Given the description of an element on the screen output the (x, y) to click on. 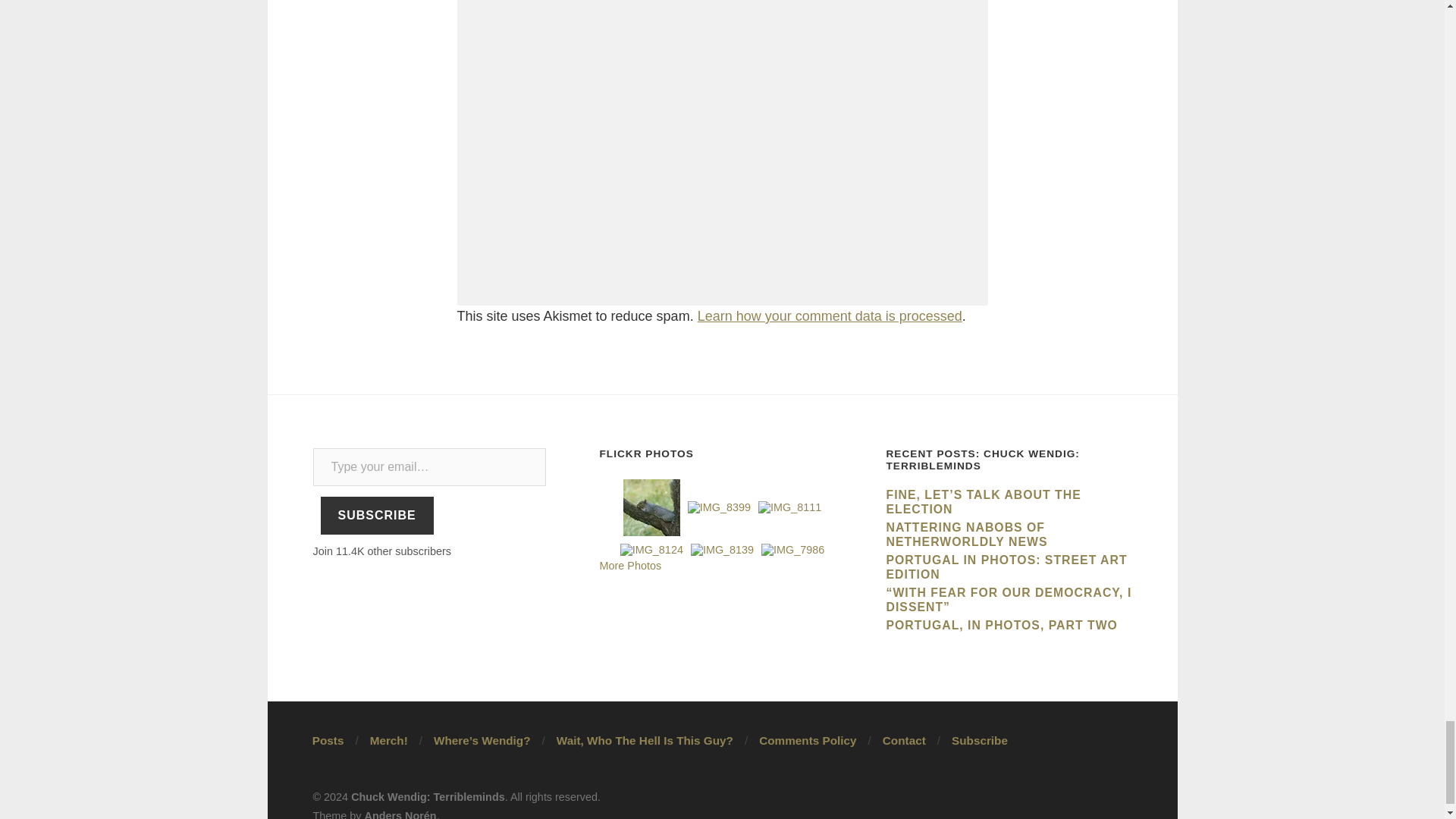
Please fill in this field. (429, 466)
